Given the description of an element on the screen output the (x, y) to click on. 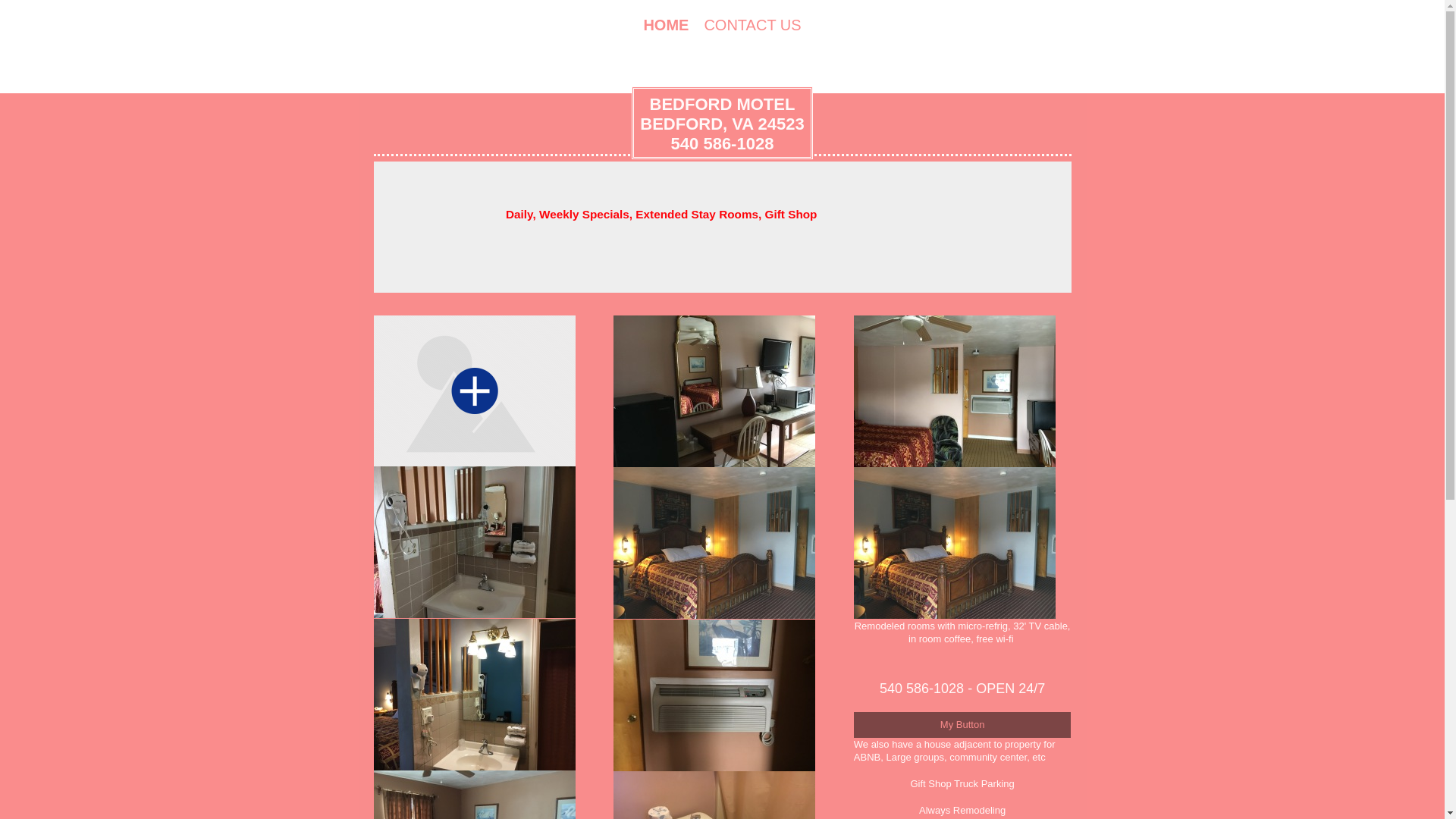
CONTACT US (751, 25)
My Button (962, 724)
HOME (721, 122)
 Daily, Weekly Specials, Extended Stay Rooms, Gift Shop (664, 25)
